Given the description of an element on the screen output the (x, y) to click on. 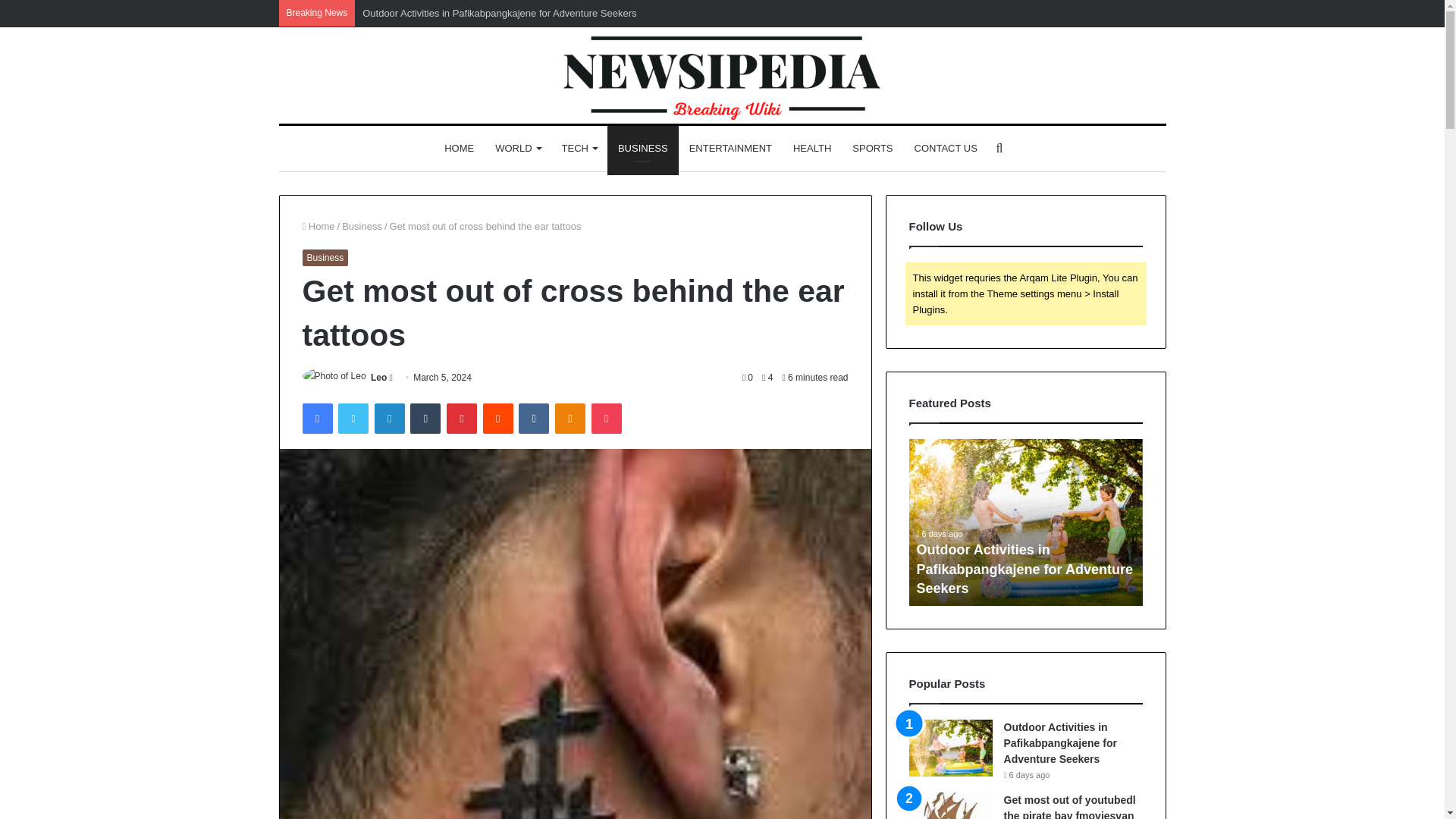
TECH (579, 148)
NewsiPedia (721, 74)
HEALTH (812, 148)
WORLD (517, 148)
VKontakte (533, 418)
SPORTS (871, 148)
Pinterest (461, 418)
Tumblr (425, 418)
BUSINESS (642, 148)
Business (361, 225)
